Given the description of an element on the screen output the (x, y) to click on. 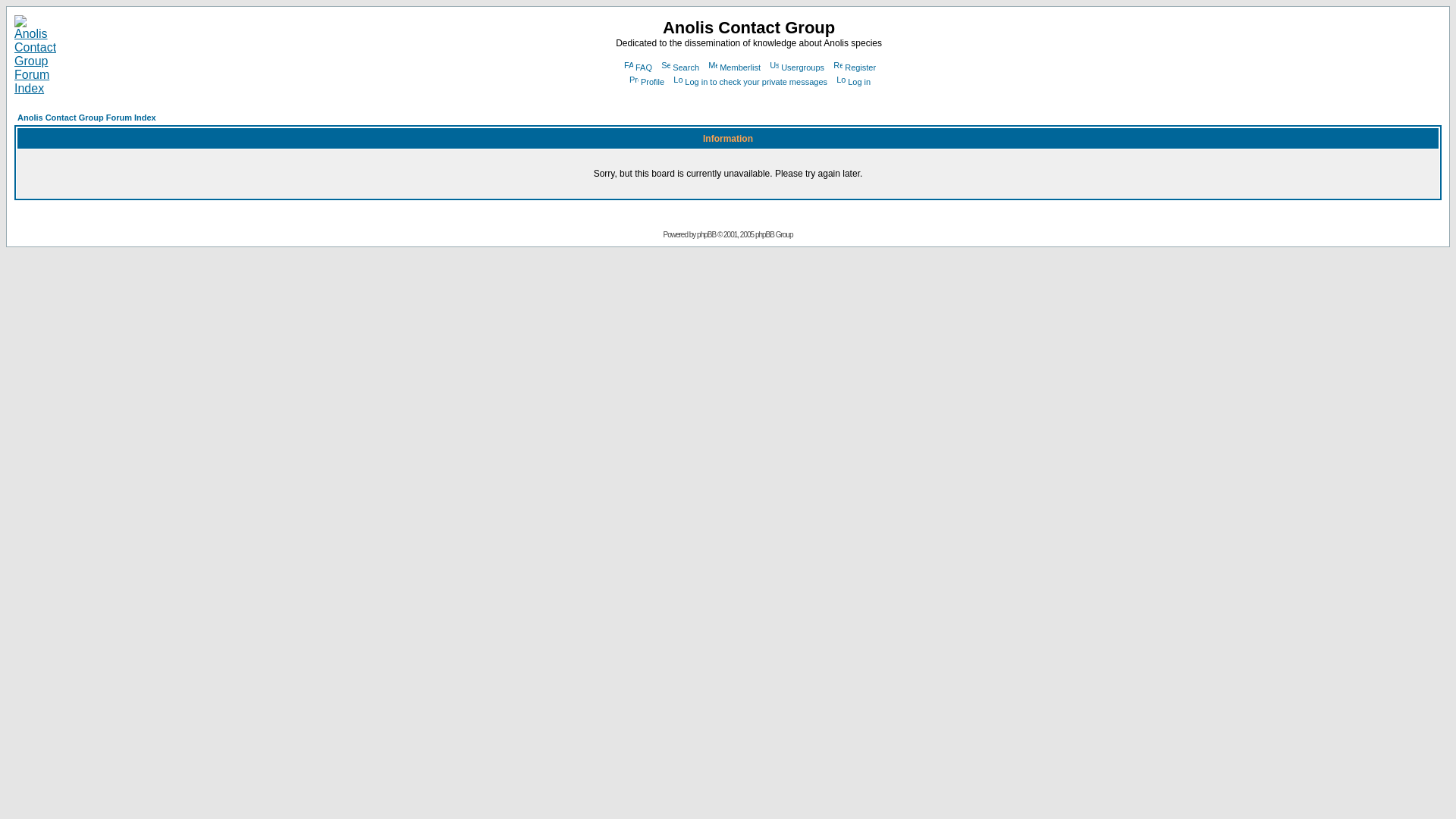
Anolis Contact Group Forum Index (86, 117)
Usergroups (795, 67)
Profile (645, 81)
Log in (852, 81)
Register (853, 67)
Memberlist (733, 67)
FAQ (636, 67)
Log in to check your private messages (749, 81)
Search (678, 67)
phpBB (706, 234)
